Given the description of an element on the screen output the (x, y) to click on. 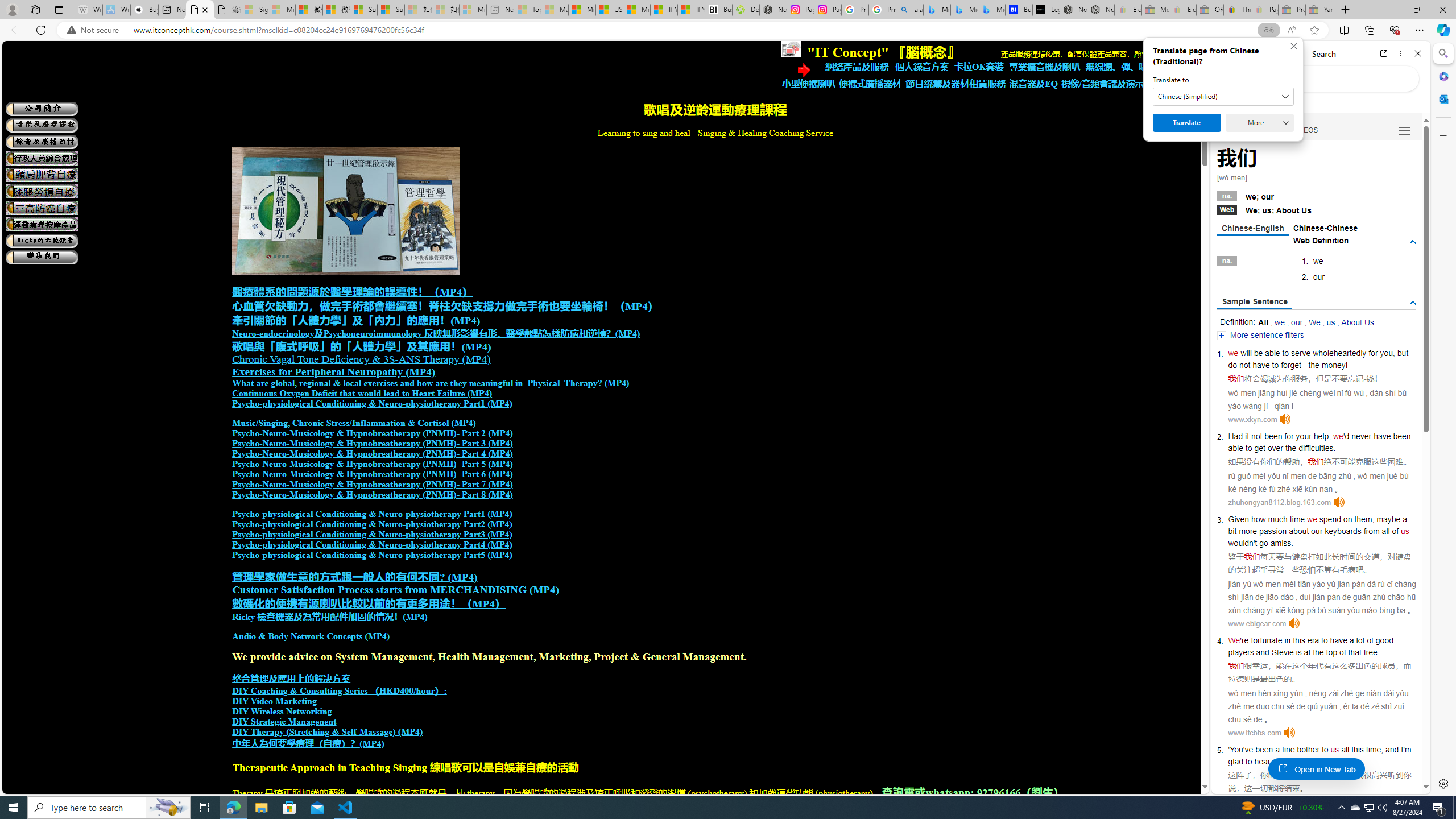
Forward (1242, 53)
www.lfcbbs.com (1254, 732)
Outlook (1442, 98)
More (1259, 122)
to (1323, 640)
forget (1291, 364)
hear (1262, 760)
Microsoft Services Agreement - Sleeping (281, 9)
